Given the description of an element on the screen output the (x, y) to click on. 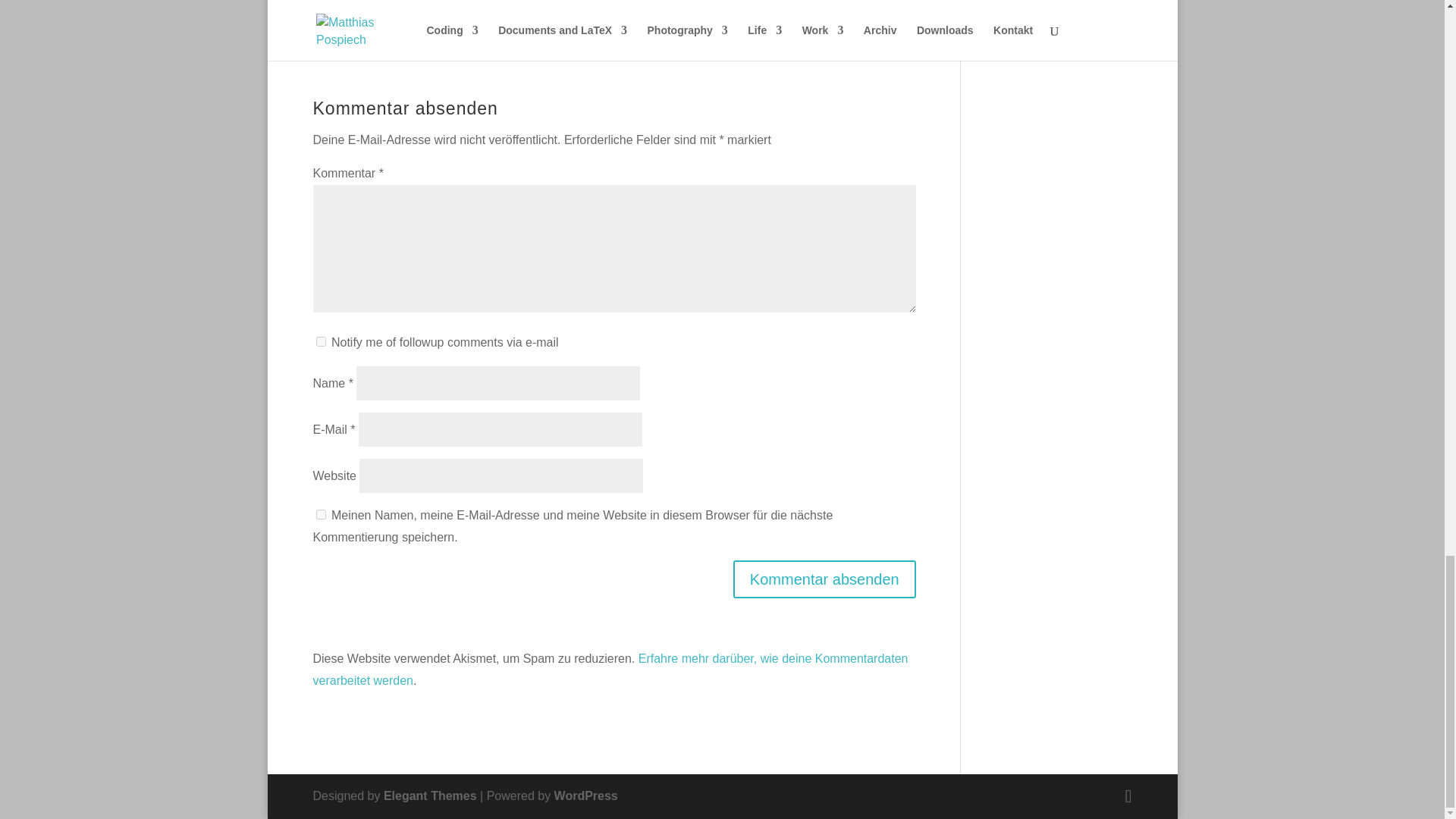
Kommentar absenden (824, 579)
yes (319, 514)
Premium WordPress Themes (430, 795)
subscribe (319, 341)
